Given the description of an element on the screen output the (x, y) to click on. 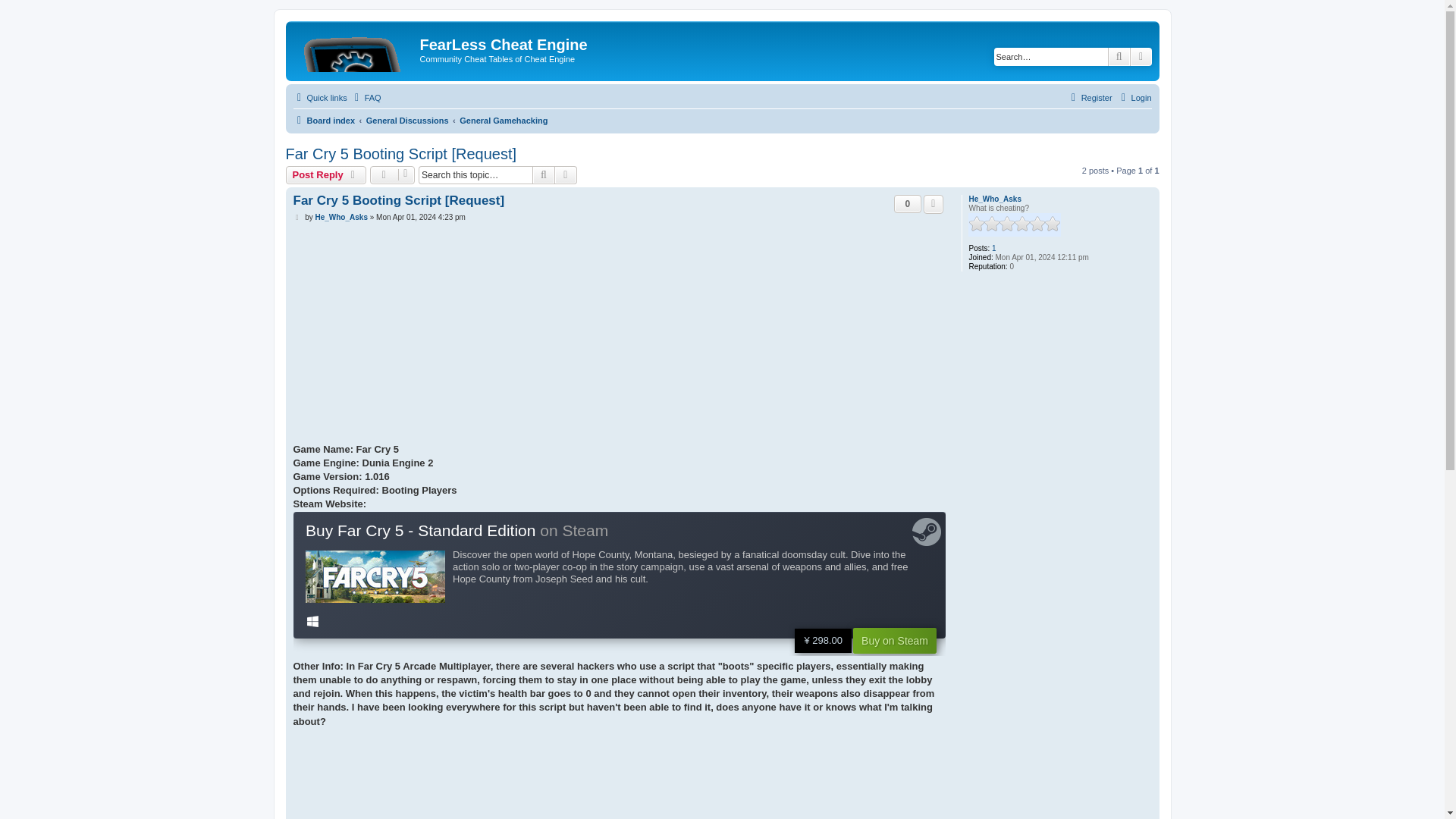
Post (297, 216)
Login (1134, 97)
Topic tools (391, 175)
Post Reply (325, 175)
Advanced search (1141, 56)
General Gamehacking (503, 120)
What is cheating? (1014, 224)
Board index (354, 49)
Frequently Asked Questions (365, 97)
Quote (933, 203)
Advanced search (565, 175)
Post (297, 216)
Search (1119, 56)
Advanced search (565, 175)
Register (1089, 97)
